Given the description of an element on the screen output the (x, y) to click on. 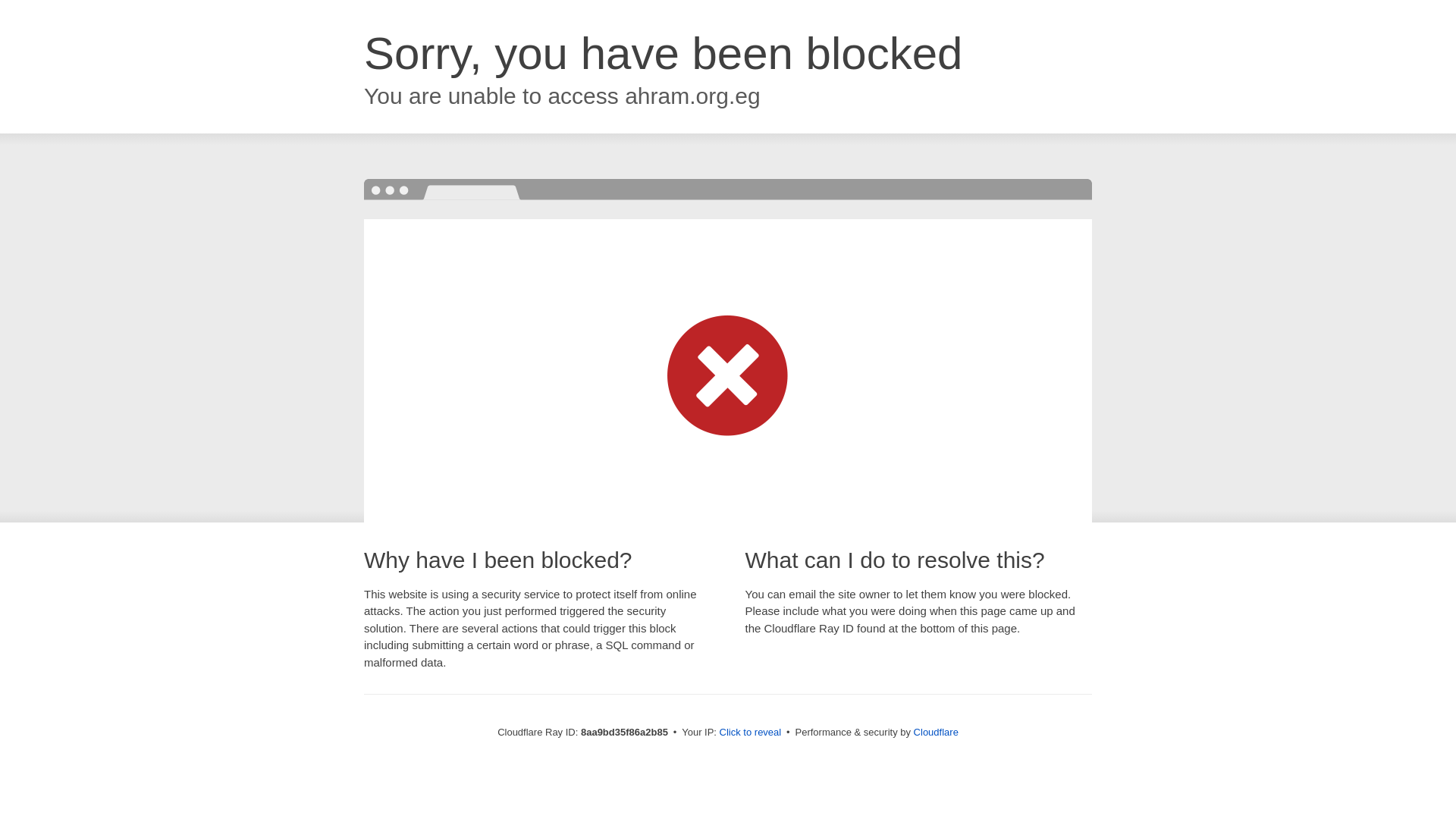
Click to reveal (750, 732)
Cloudflare (936, 731)
